Given the description of an element on the screen output the (x, y) to click on. 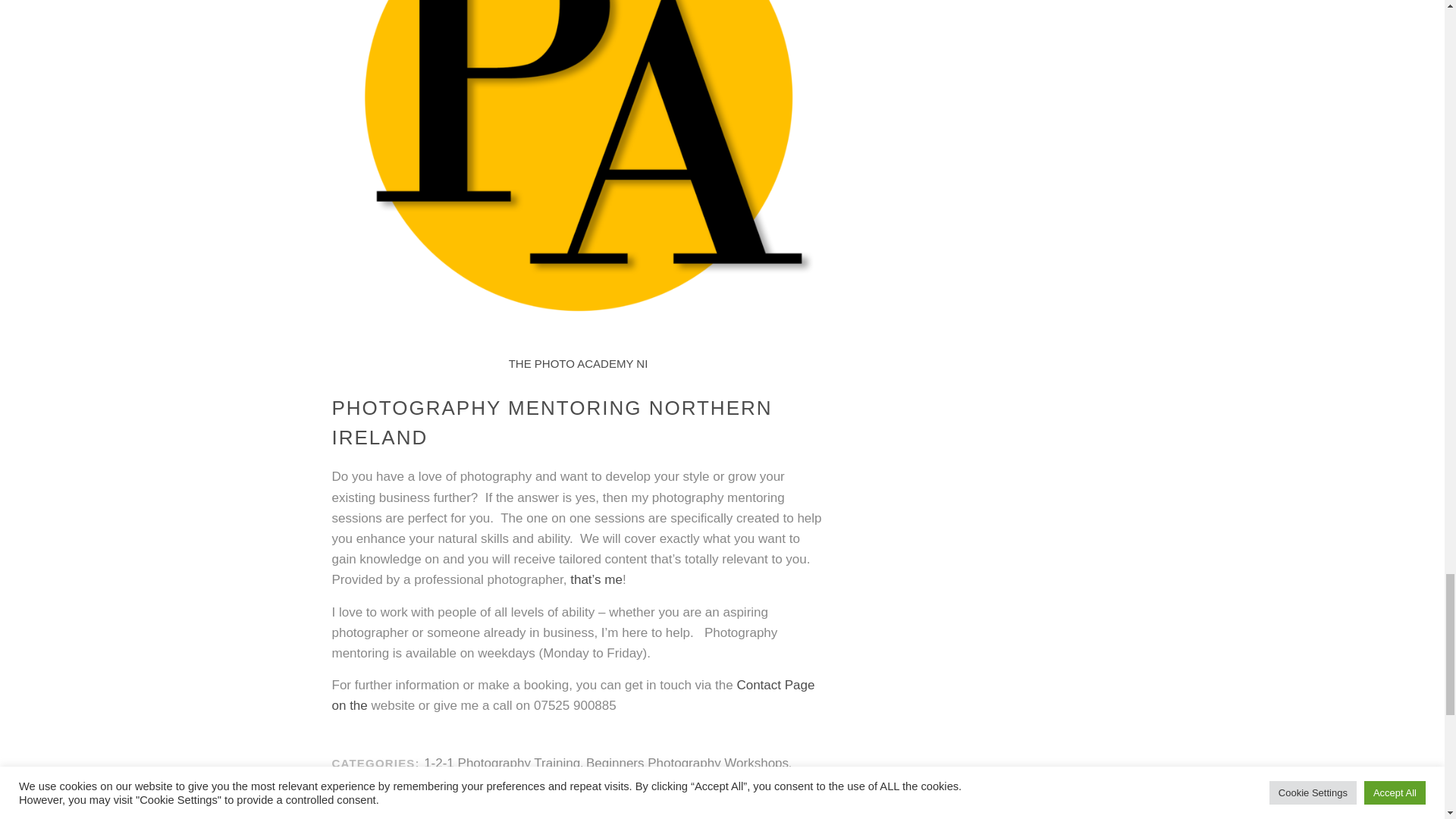
THE PHOTO ACADEMY NI (577, 363)
1-2-1 Photography Training (501, 762)
KIDS PHOTOGRAPHY WORKSHOPS (442, 789)
Photography Workshops (572, 800)
Smartphone Photography (474, 813)
Beginners Photography Workshops (687, 762)
PHOTOGRAPHY MENTORING NORTHERN IRELAND (552, 422)
Online Photography Workshop (647, 789)
Contact Page on the (573, 695)
